Given the description of an element on the screen output the (x, y) to click on. 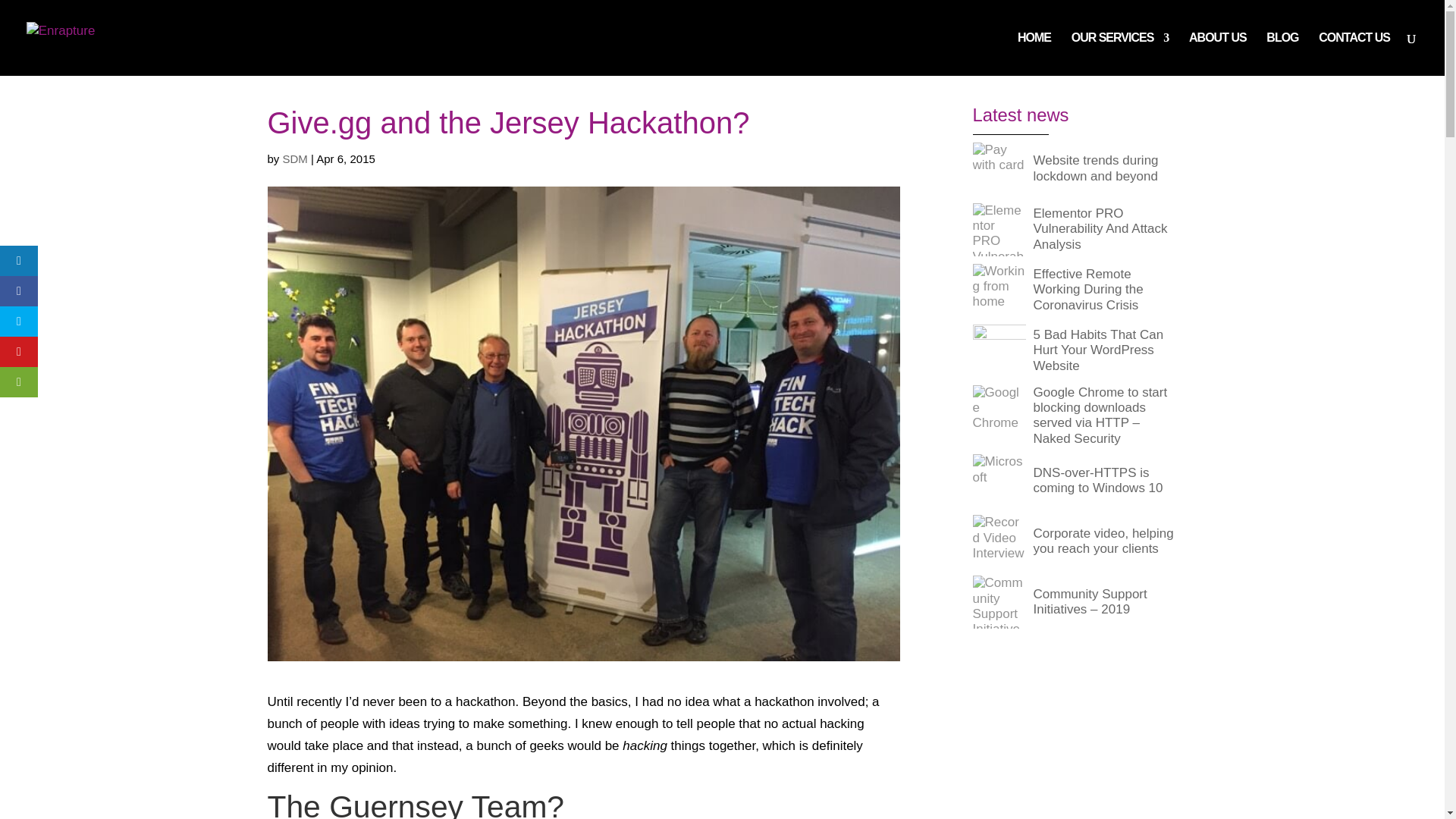
ABOUT US (1217, 54)
Elementor PRO Vulnerability And Attack Analysis (1074, 229)
DNS-over-HTTPS is coming to Windows 10 (1074, 480)
Posts by SDM (294, 158)
5 Bad Habits That Can Hurt Your WordPress Website (1074, 350)
Corporate video, helping you reach your clients (1074, 541)
OUR SERVICES (1120, 54)
Website trends during lockdown and beyond (1074, 168)
SDM (294, 158)
CONTACT US (1354, 54)
